Given the description of an element on the screen output the (x, y) to click on. 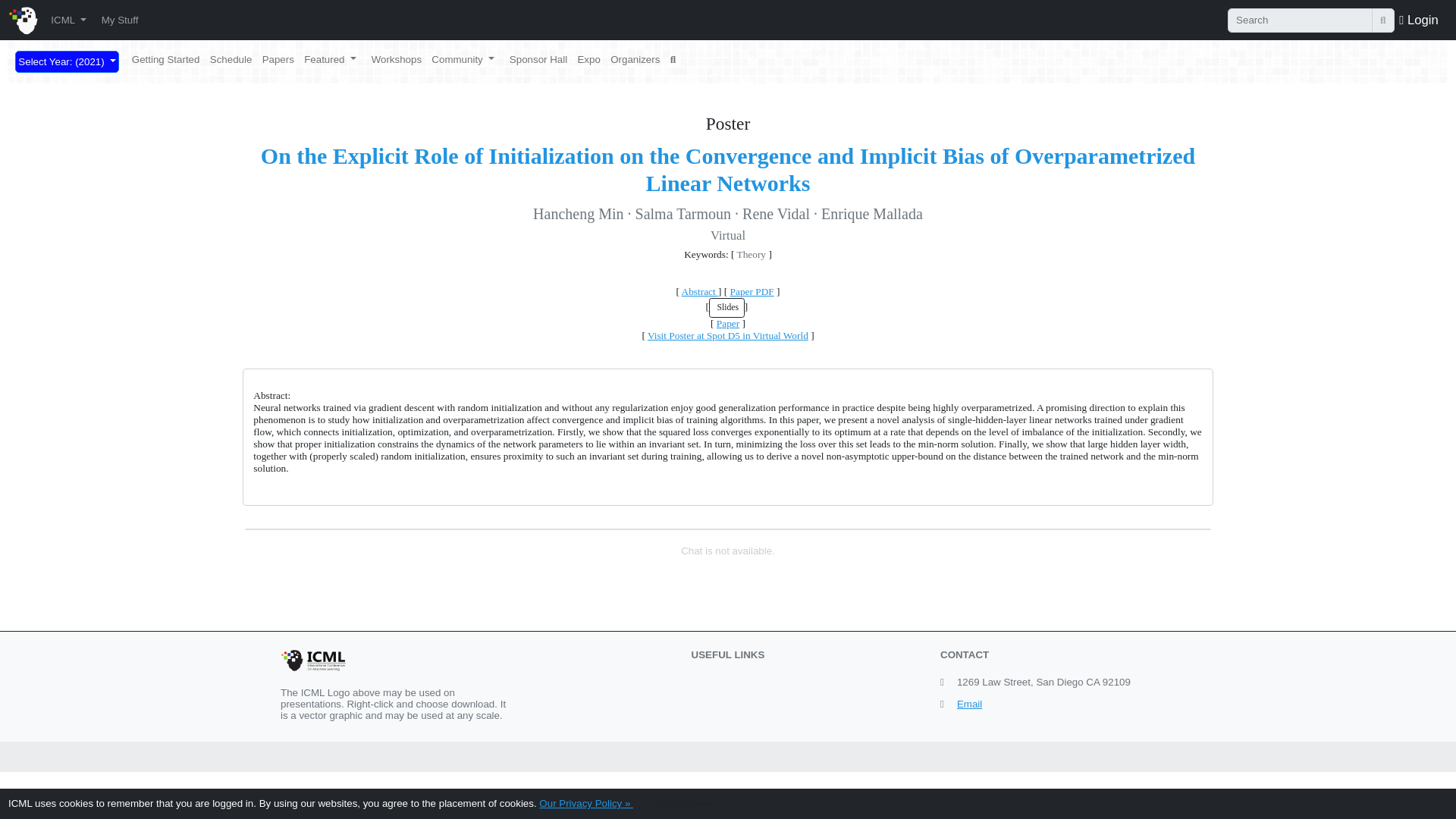
Login (1418, 19)
My Stuff (119, 20)
ICML (68, 20)
Slides (726, 307)
